Given the description of an element on the screen output the (x, y) to click on. 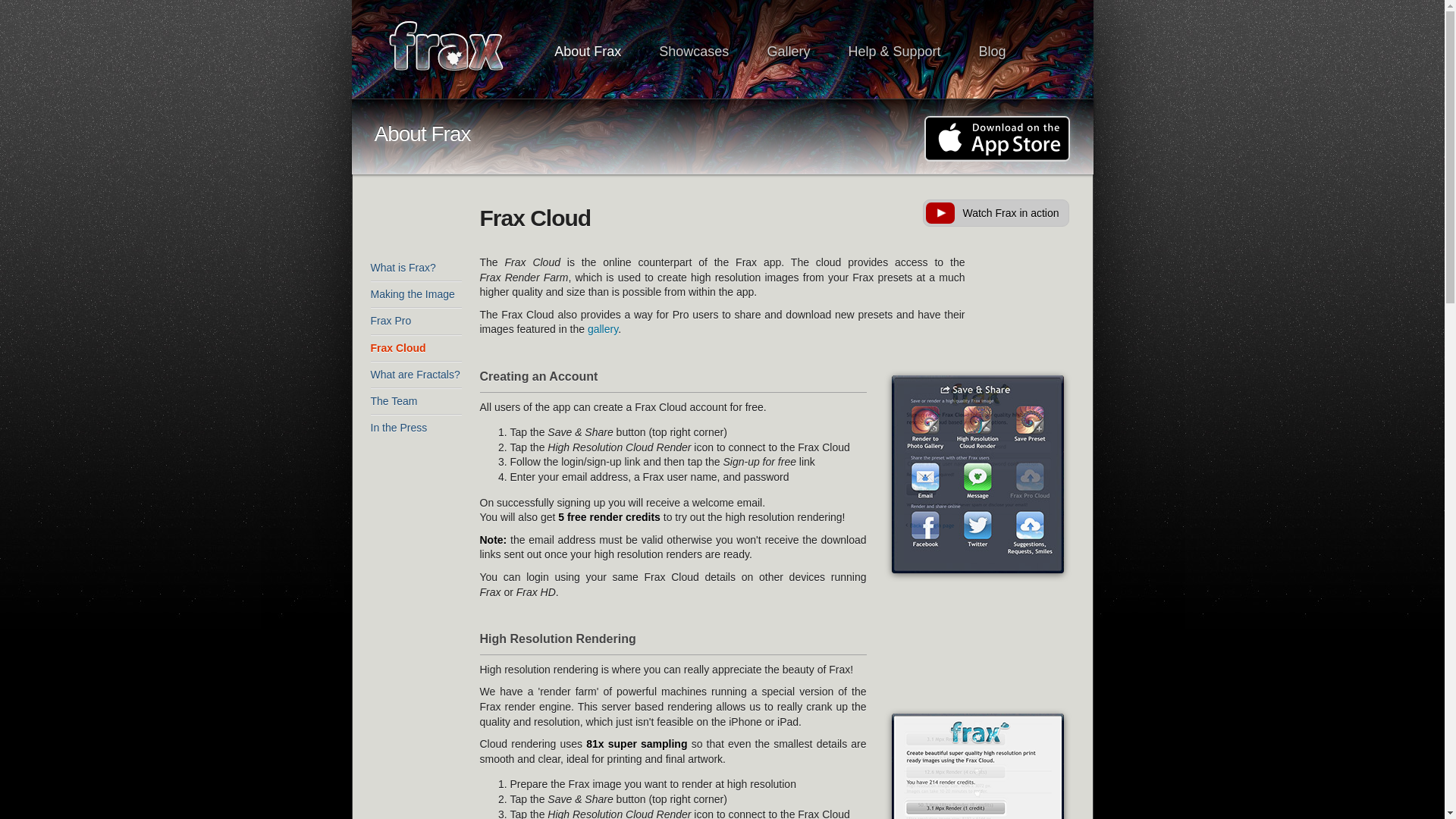
Watch Frax in action Element type: text (995, 212)
Showcases Element type: text (693, 51)
In the Press Element type: text (415, 427)
Help & Support Element type: text (893, 51)
Making the Image Element type: text (415, 294)
The Team Element type: text (415, 401)
Frax Element type: text (456, 49)
Gallery Element type: text (787, 51)
What are Fractals? Element type: text (415, 374)
Frax Pro Element type: text (415, 320)
Blog Element type: text (991, 51)
Download on the App Store Element type: hover (996, 138)
About Frax Element type: text (587, 51)
gallery Element type: text (602, 329)
What is Frax? Element type: text (415, 267)
